Given the description of an element on the screen output the (x, y) to click on. 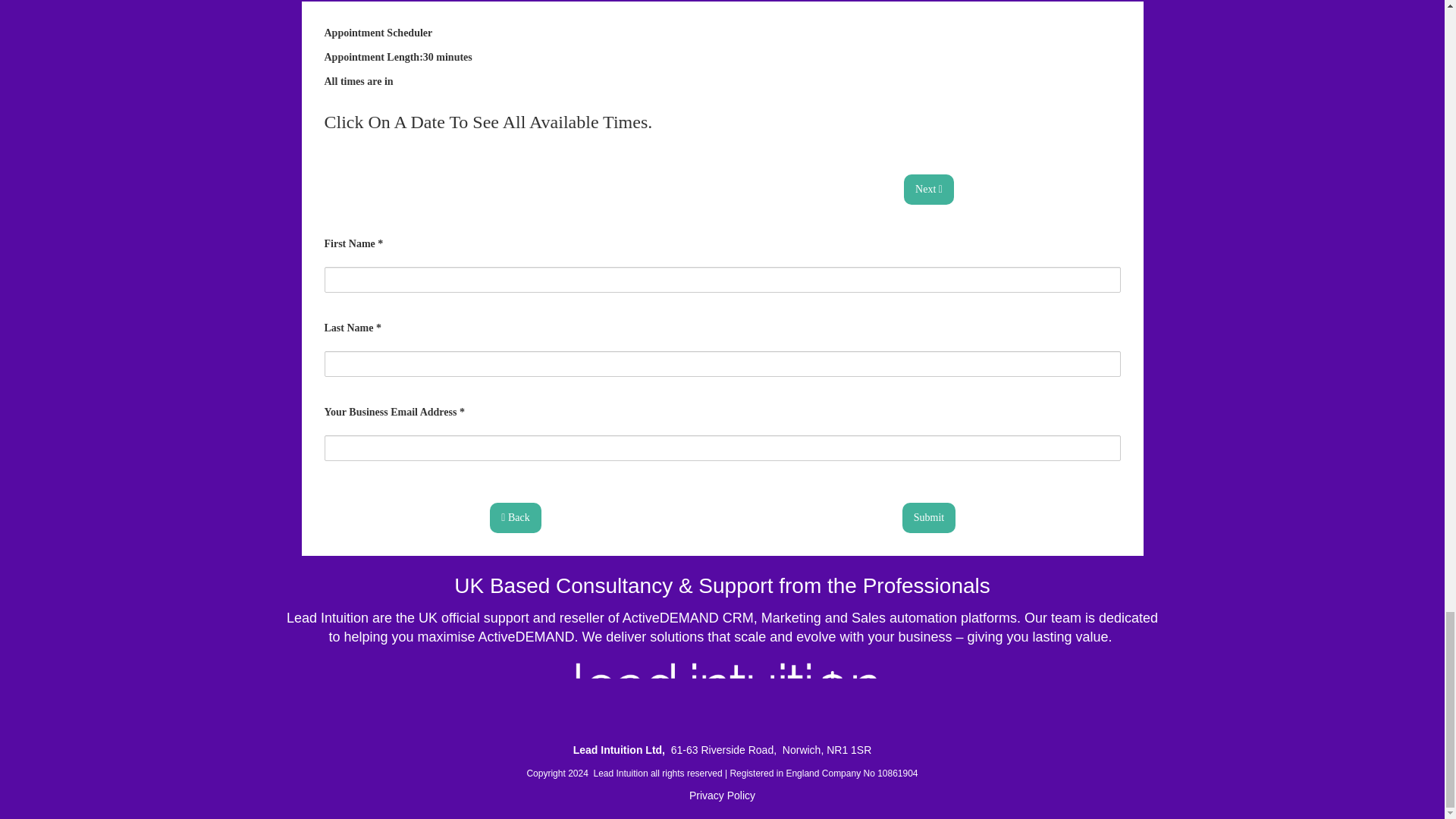
Back (514, 517)
Back (514, 515)
Next (928, 187)
Privacy Policy (721, 795)
Next (928, 189)
Submit (928, 515)
Submit (928, 517)
